Given the description of an element on the screen output the (x, y) to click on. 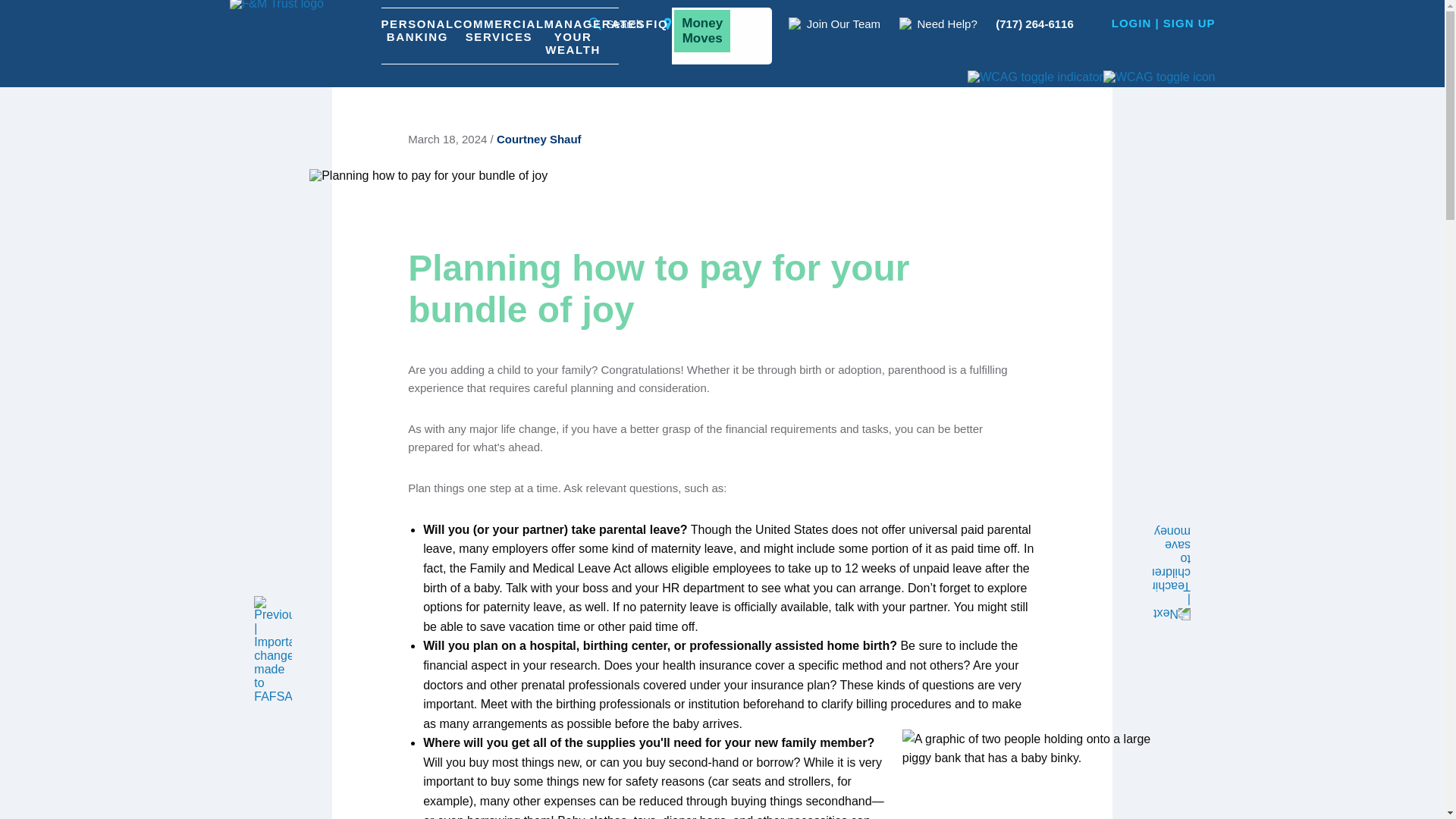
Sign up for Online Banking (1189, 22)
Login to Online Banking (1131, 22)
Join Our Team (834, 23)
COMMERCIAL SERVICES (497, 35)
Need Help? (937, 23)
Search (615, 23)
MANAGE YOUR WEALTH (572, 35)
PERSONAL BANKING (416, 35)
Money Moves (721, 35)
SIGN UP (1189, 22)
LOGIN (1131, 22)
